Given the description of an element on the screen output the (x, y) to click on. 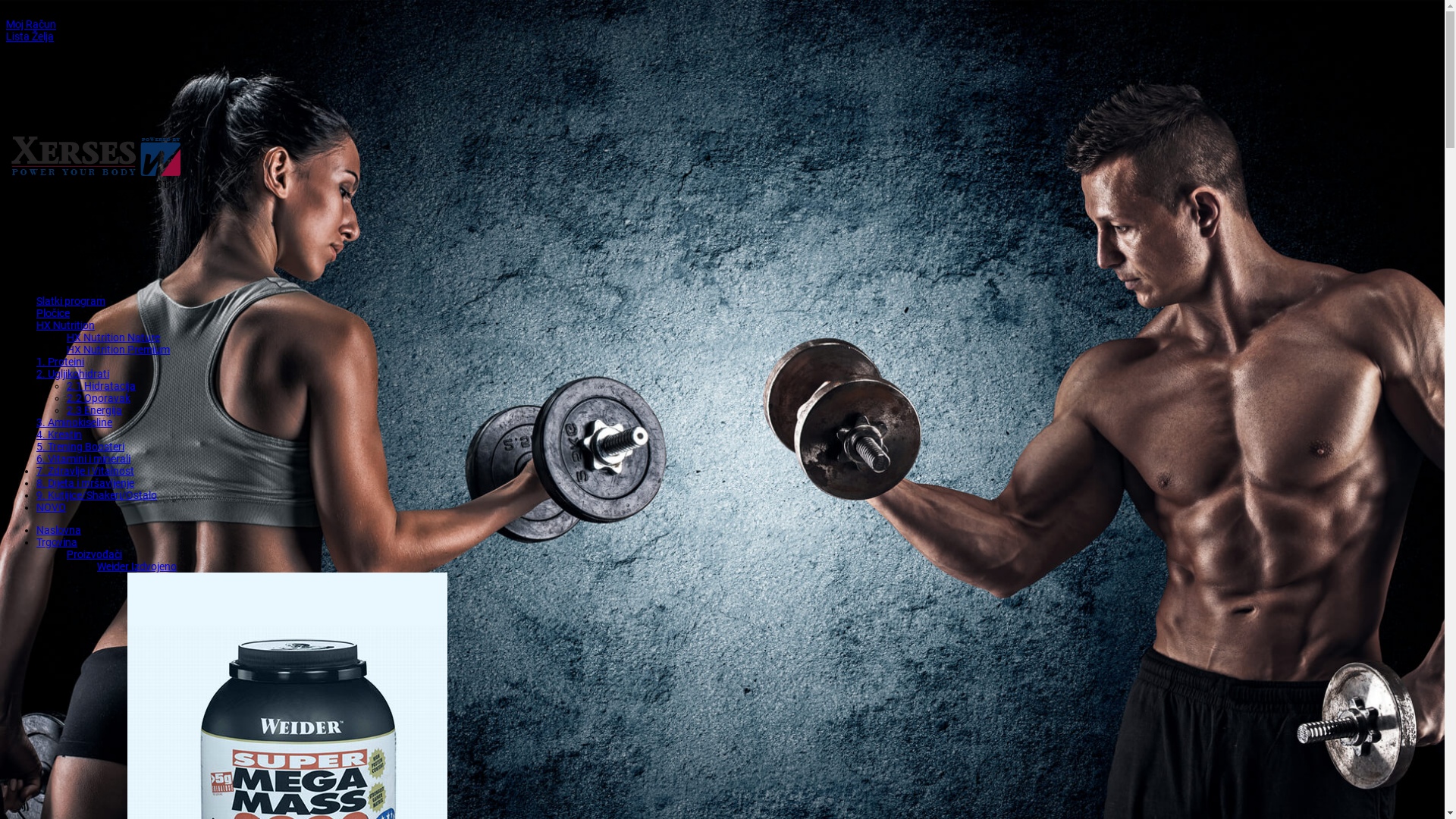
6. Vitamini i minerali Element type: text (83, 458)
4. Kreatin Element type: text (58, 434)
2.3 Energija Element type: text (94, 410)
2. Ugljikohidrati Element type: text (72, 373)
Weider Izdvojeno Element type: text (136, 566)
HX Nutrition Nature Element type: text (113, 337)
HX Nutrition Premium Element type: text (117, 349)
1. Proteini Element type: text (60, 361)
HX Nutrition Element type: text (65, 325)
Trgovina Element type: text (56, 542)
Naslovna Element type: text (58, 530)
7. Zdravlje i Vitalnost Element type: text (85, 470)
9. Kutijice/Shakeri/Ostalo Element type: text (96, 495)
Slatki program Element type: text (70, 300)
2.2 Oporavak Element type: text (98, 398)
NOVO Element type: text (50, 507)
2.1 Hidratacija Element type: text (100, 385)
5. Trening Boosteri Element type: text (80, 446)
3. Aminokiseline Element type: text (74, 422)
